Given the description of an element on the screen output the (x, y) to click on. 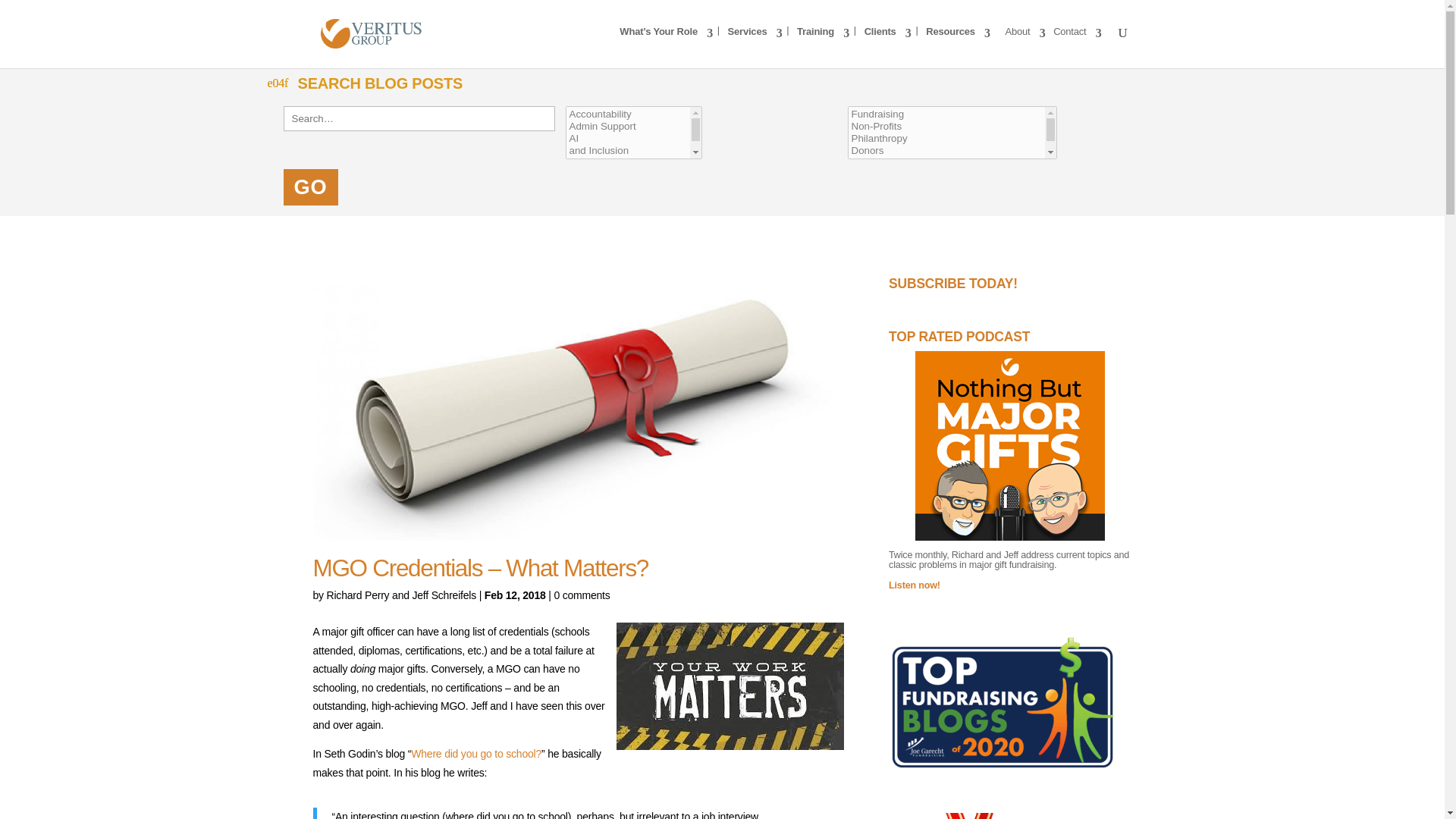
Posts by Richard Perry and Jeff Schreifels (401, 594)
GO (310, 186)
Resources (958, 44)
Search for a tag... (952, 132)
Clients (887, 44)
About (1025, 44)
Training (822, 44)
Services (755, 44)
Contact (1076, 44)
